Given the description of an element on the screen output the (x, y) to click on. 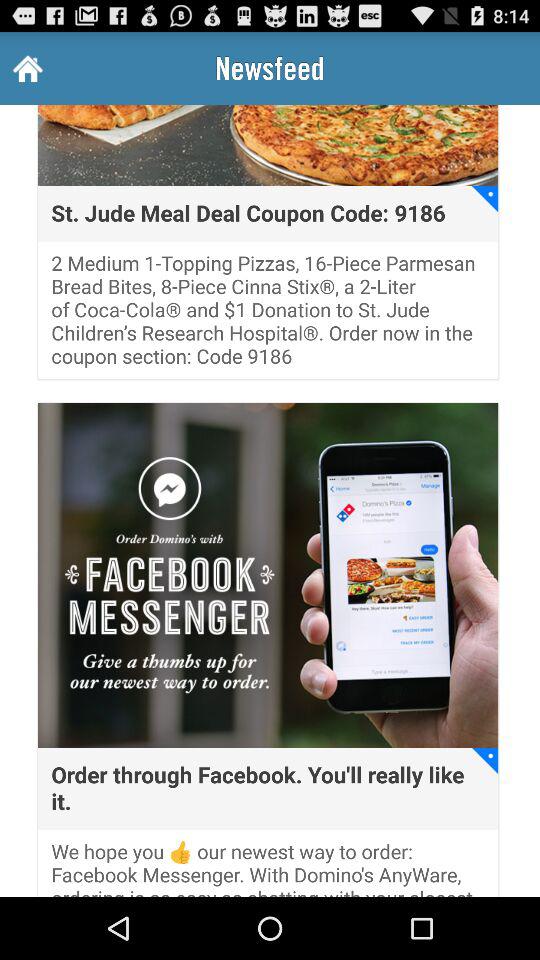
open item next to newsfeed icon (26, 68)
